Given the description of an element on the screen output the (x, y) to click on. 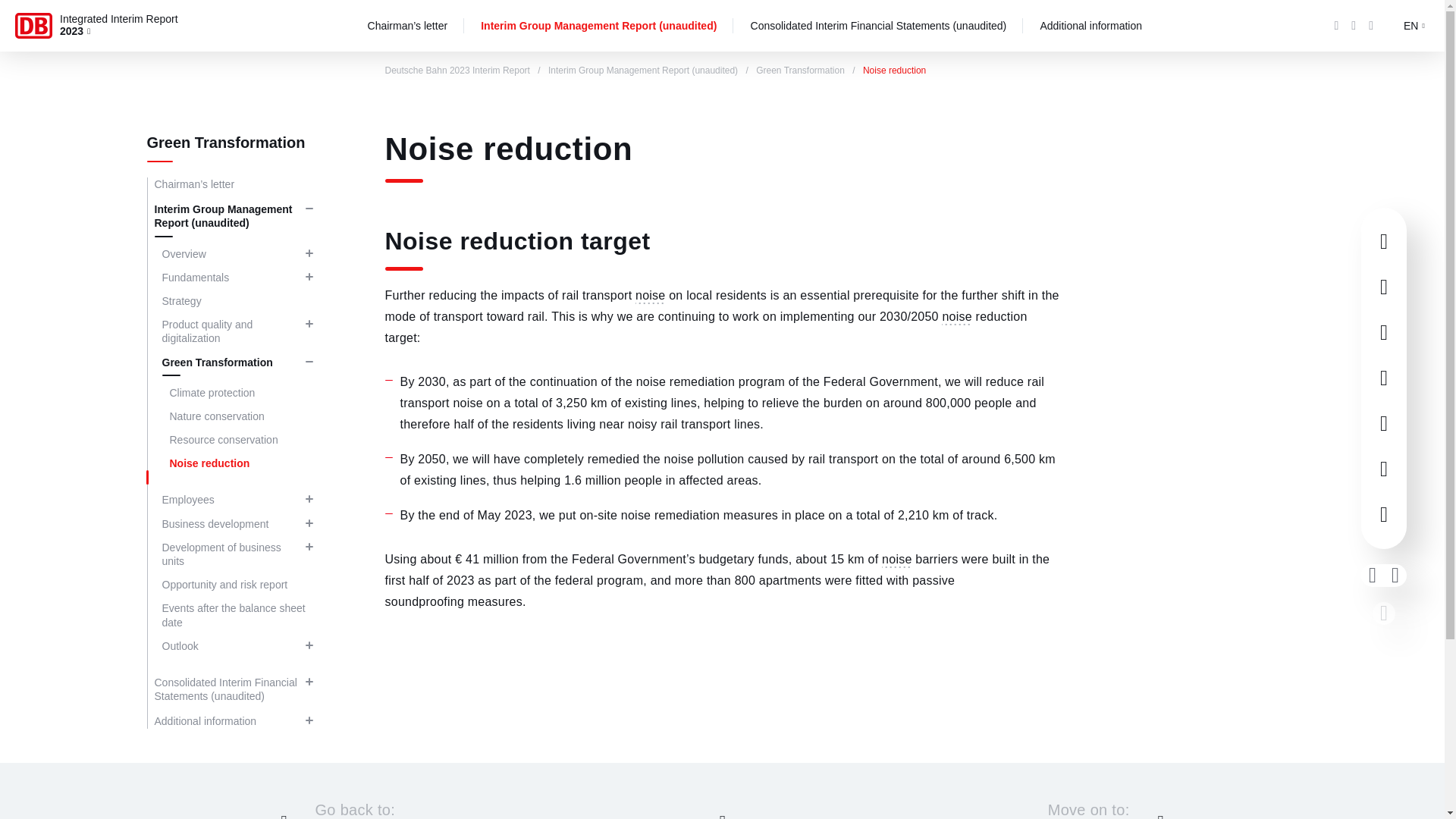
Integrated Interim Report 2023 (124, 27)
scroll up (1383, 612)
next (1395, 575)
previous (1372, 575)
Scroll up (722, 812)
